Given the description of an element on the screen output the (x, y) to click on. 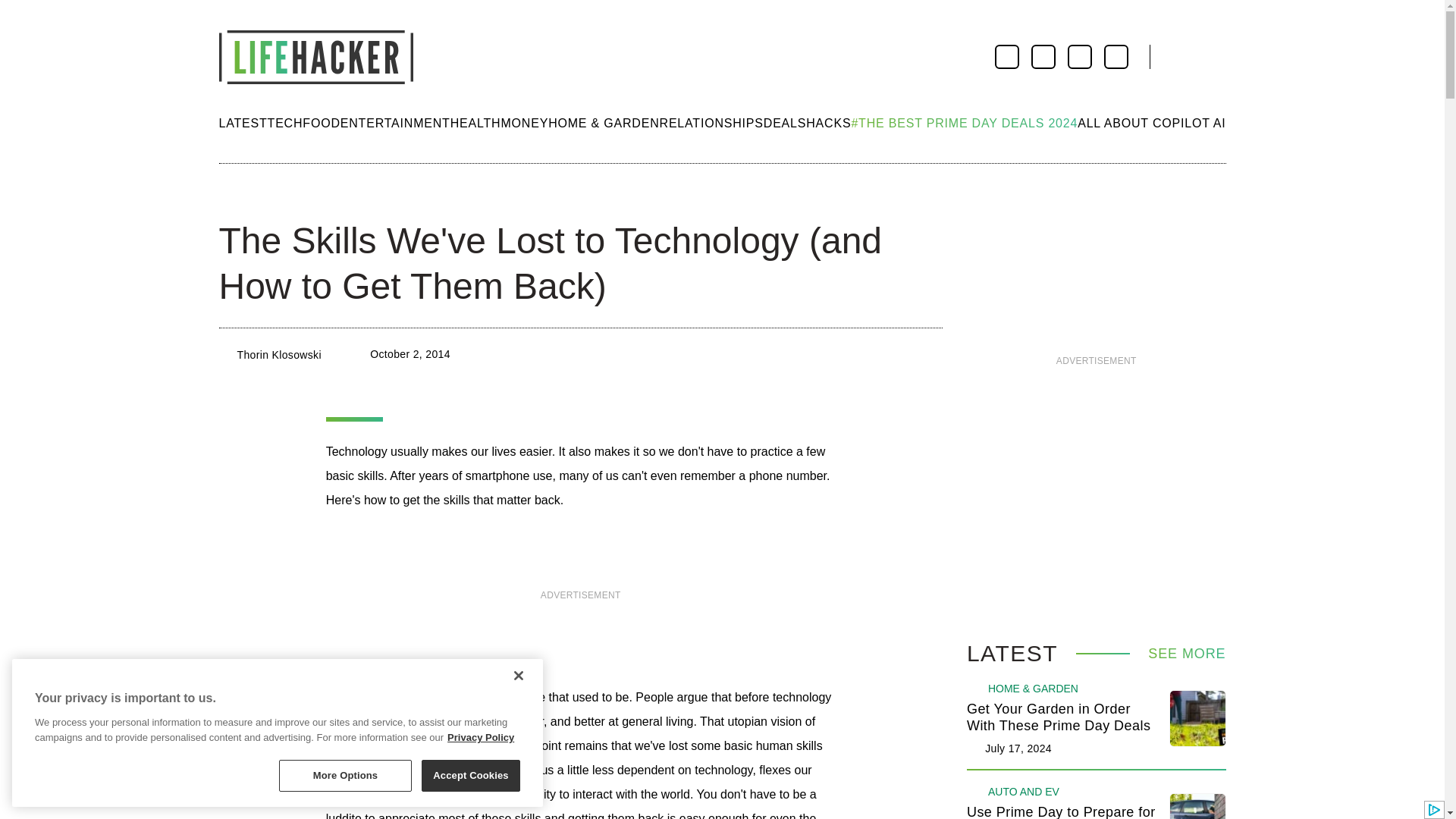
RELATIONSHIPS (710, 123)
HEALTH (474, 123)
ALL ABOUT COPILOT AI (1151, 123)
Social Share (232, 193)
HACKS (828, 123)
DEALS (784, 123)
MONEY (524, 123)
ENTERTAINMENT (394, 123)
LATEST (242, 123)
TECH (284, 123)
FOOD (320, 123)
